Given the description of an element on the screen output the (x, y) to click on. 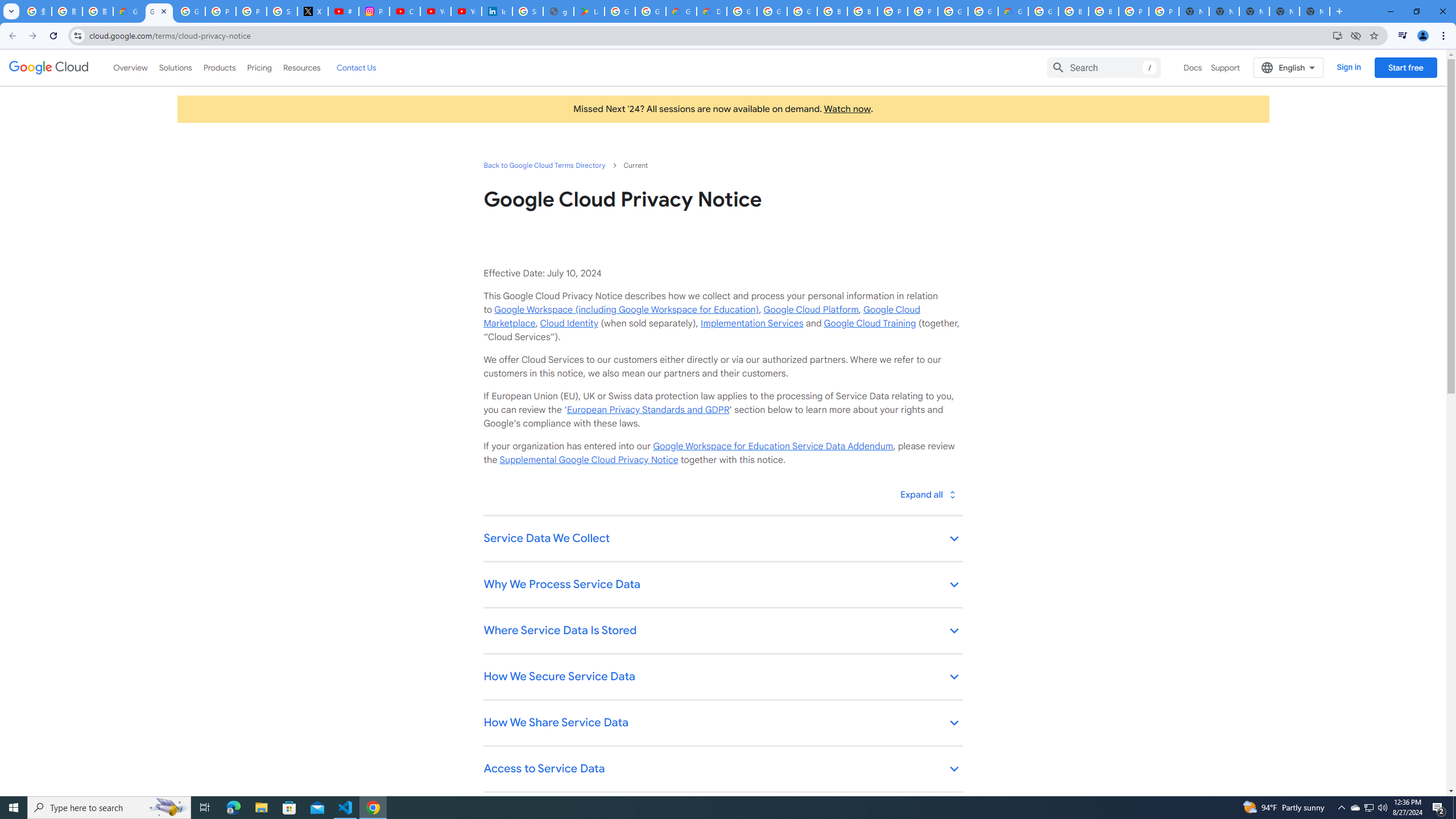
Start free (1405, 67)
Google Cloud Platform (952, 11)
Install Google Cloud (1336, 35)
Access to Service Data keyboard_arrow_down (722, 769)
European Privacy Standards and GDPR (647, 410)
Docs (1192, 67)
How We Share Service Data keyboard_arrow_down (722, 723)
